Given the description of an element on the screen output the (x, y) to click on. 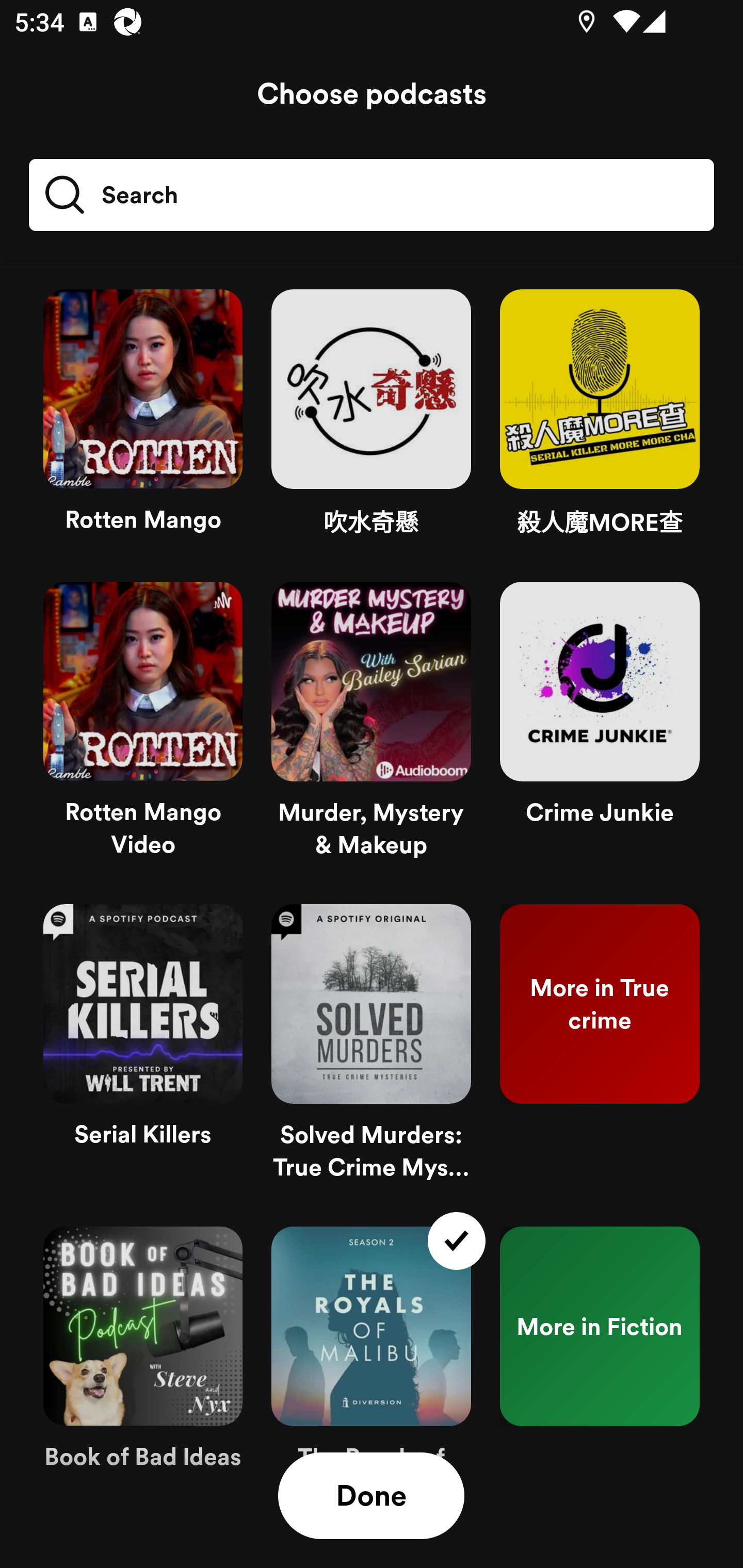
Search (371, 195)
Search (110, 195)
Rotten Mango unselected Rotten Mango (142, 420)
吹水奇懸 unselected 吹水奇懸 (371, 420)
殺人魔MORE查 unselected 殺人魔MORE查 (599, 420)
Rotten Mango Video unselected Rotten Mango Video (142, 728)
Crime Junkie unselected Crime Junkie (599, 728)
Serial Killers unselected Serial Killers (142, 1050)
More in True crime (599, 1050)
Book of Bad Ideas unselected Book of Bad Ideas (142, 1373)
More in Fiction (599, 1373)
Done (370, 1495)
